Given the description of an element on the screen output the (x, y) to click on. 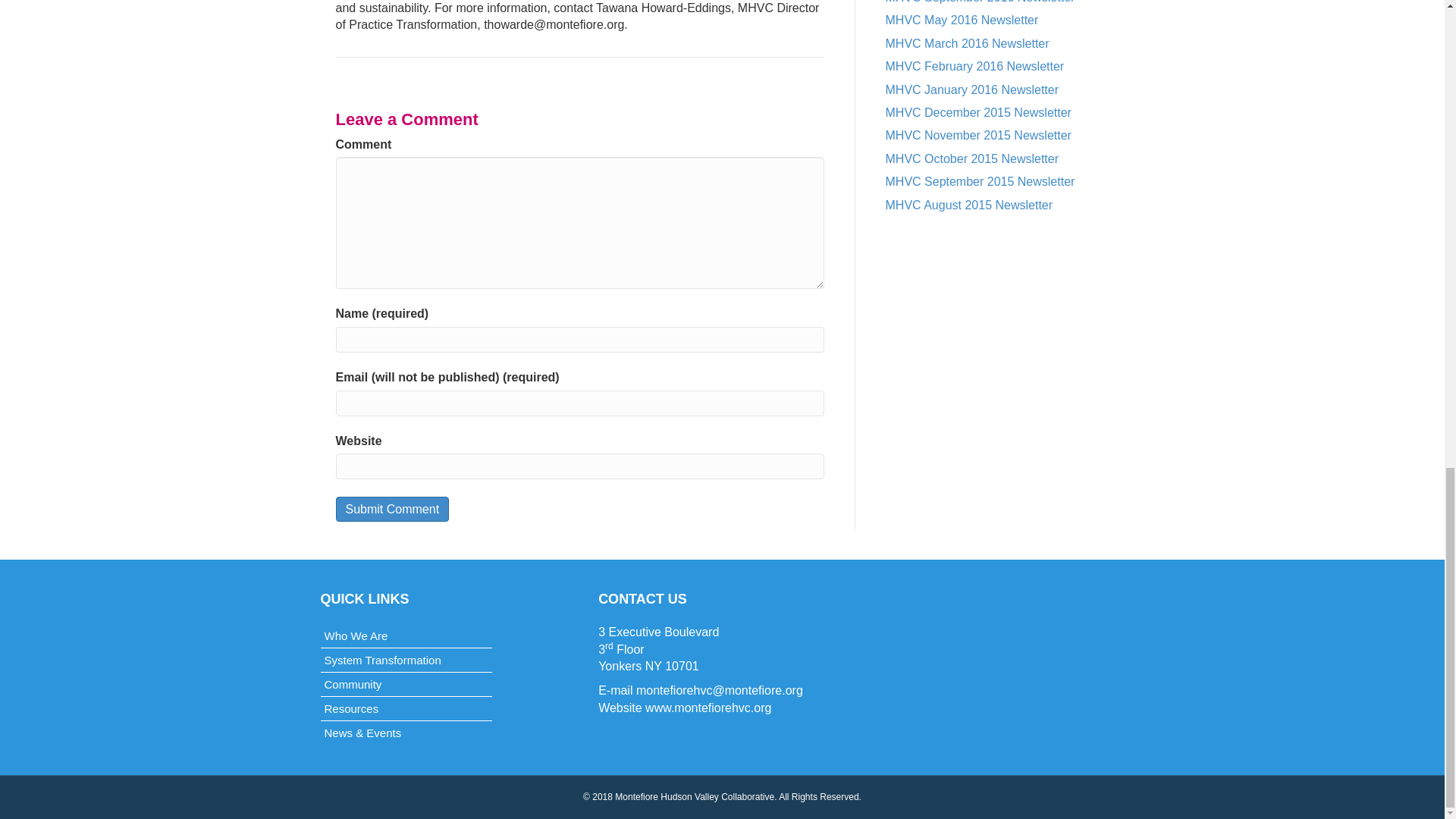
Submit Comment (391, 508)
